Given the description of an element on the screen output the (x, y) to click on. 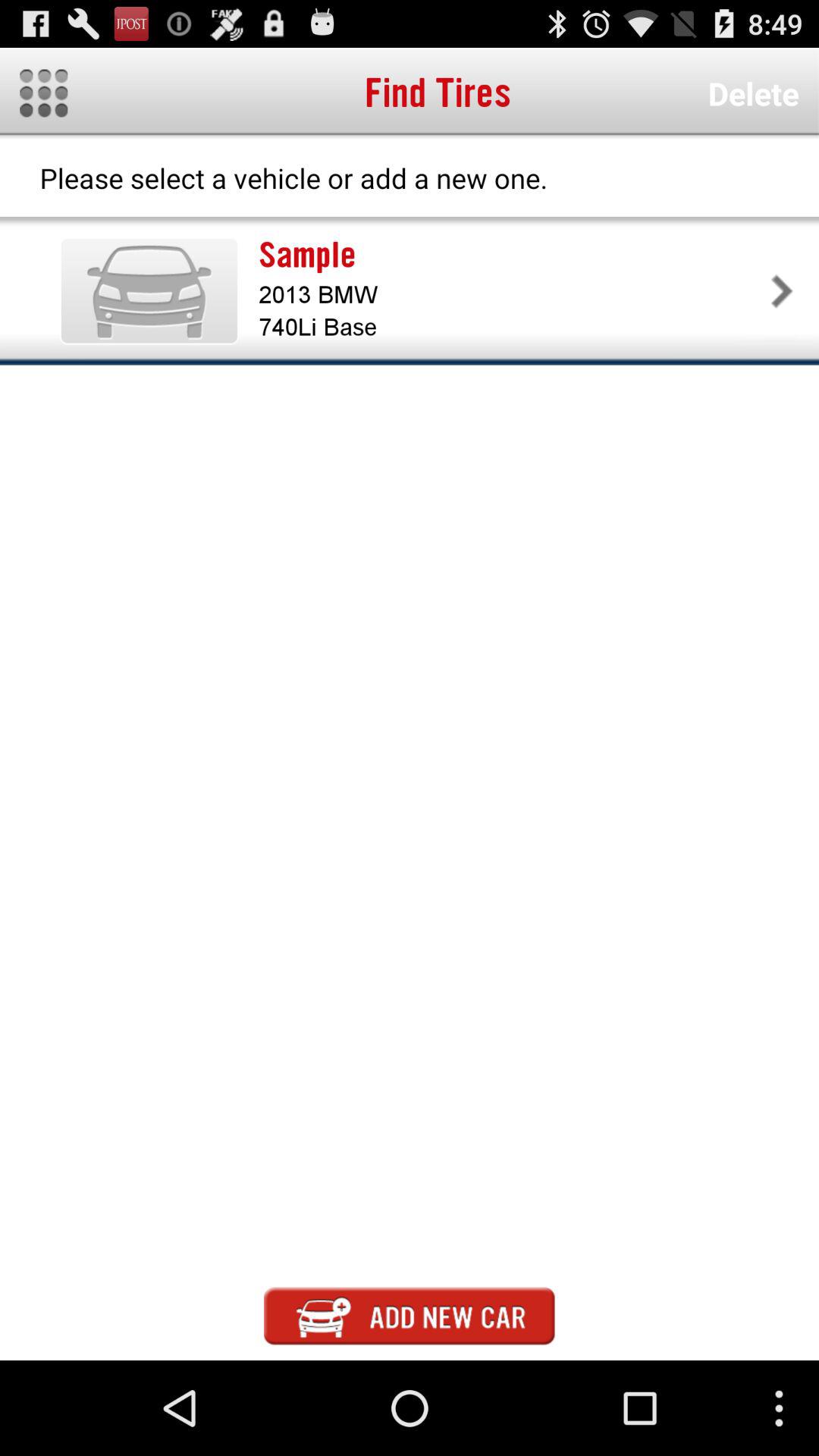
press app below 2013 bmw app (511, 327)
